Given the description of an element on the screen output the (x, y) to click on. 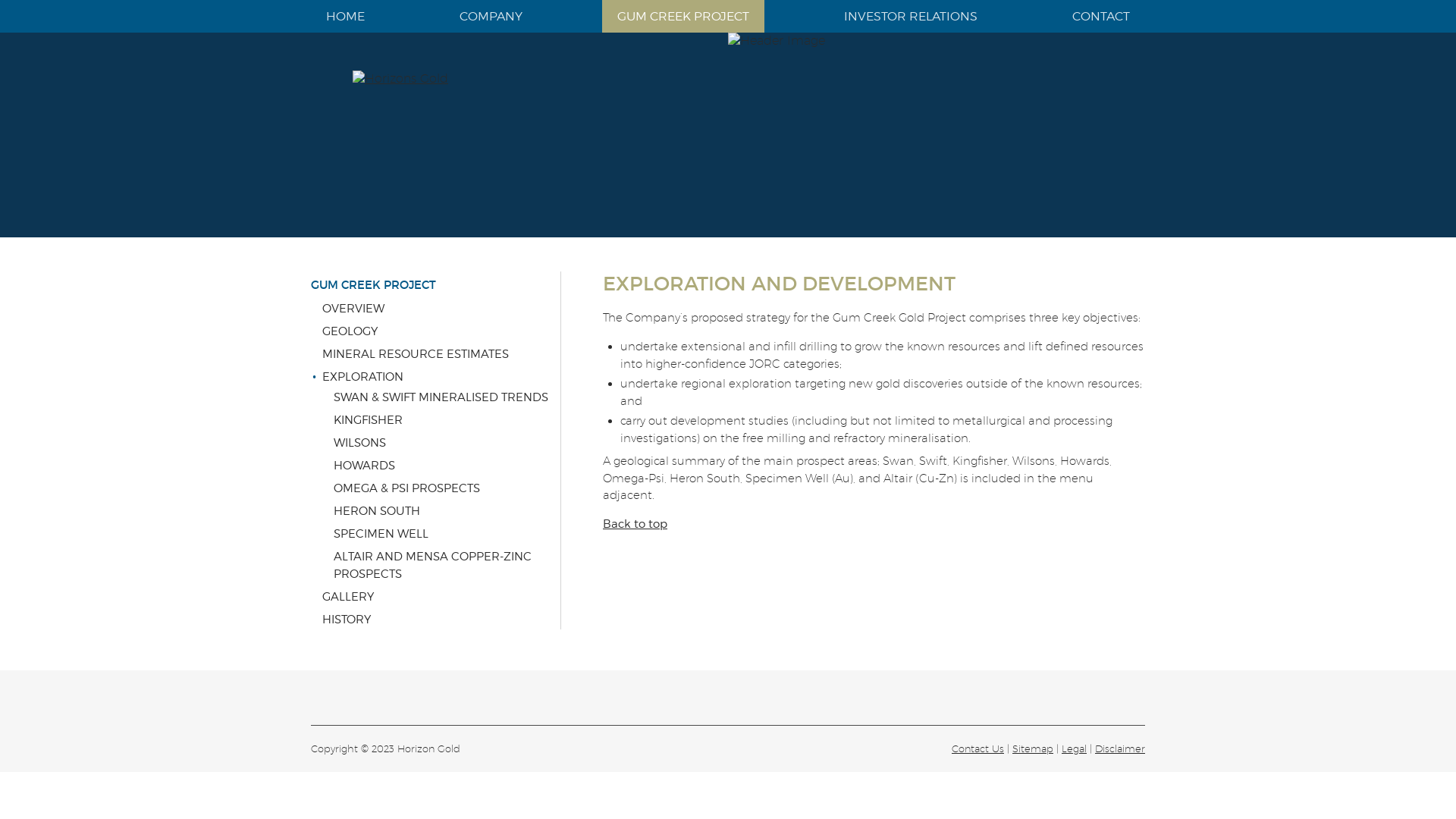
GALLERY Element type: text (441, 596)
Disclaimer Element type: text (1120, 748)
OVERVIEW Element type: text (441, 308)
GUM CREEK PROJECT Element type: text (683, 16)
OMEGA & PSI PROSPECTS Element type: text (446, 487)
HOME Element type: text (344, 16)
Legal Element type: text (1073, 748)
EXPLORATION Element type: text (441, 376)
WILSONS Element type: text (446, 442)
MINERAL RESOURCE ESTIMATES Element type: text (441, 353)
ALTAIR AND MENSA COPPER-ZINC PROSPECTS Element type: text (446, 564)
HISTORY Element type: text (441, 618)
GUM CREEK PROJECT Element type: text (435, 284)
GEOLOGY Element type: text (441, 330)
KINGFISHER Element type: text (446, 419)
HOWARDS Element type: text (446, 465)
COMPANY Element type: text (490, 16)
HERON SOUTH Element type: text (446, 510)
SWAN & SWIFT MINERALISED TRENDS Element type: text (446, 396)
Contact Us Element type: text (977, 748)
INVESTOR RELATIONS Element type: text (910, 16)
Back to top Element type: text (634, 523)
CONTACT Element type: text (1101, 16)
SPECIMEN WELL Element type: text (446, 533)
Sitemap Element type: text (1032, 748)
